Given the description of an element on the screen output the (x, y) to click on. 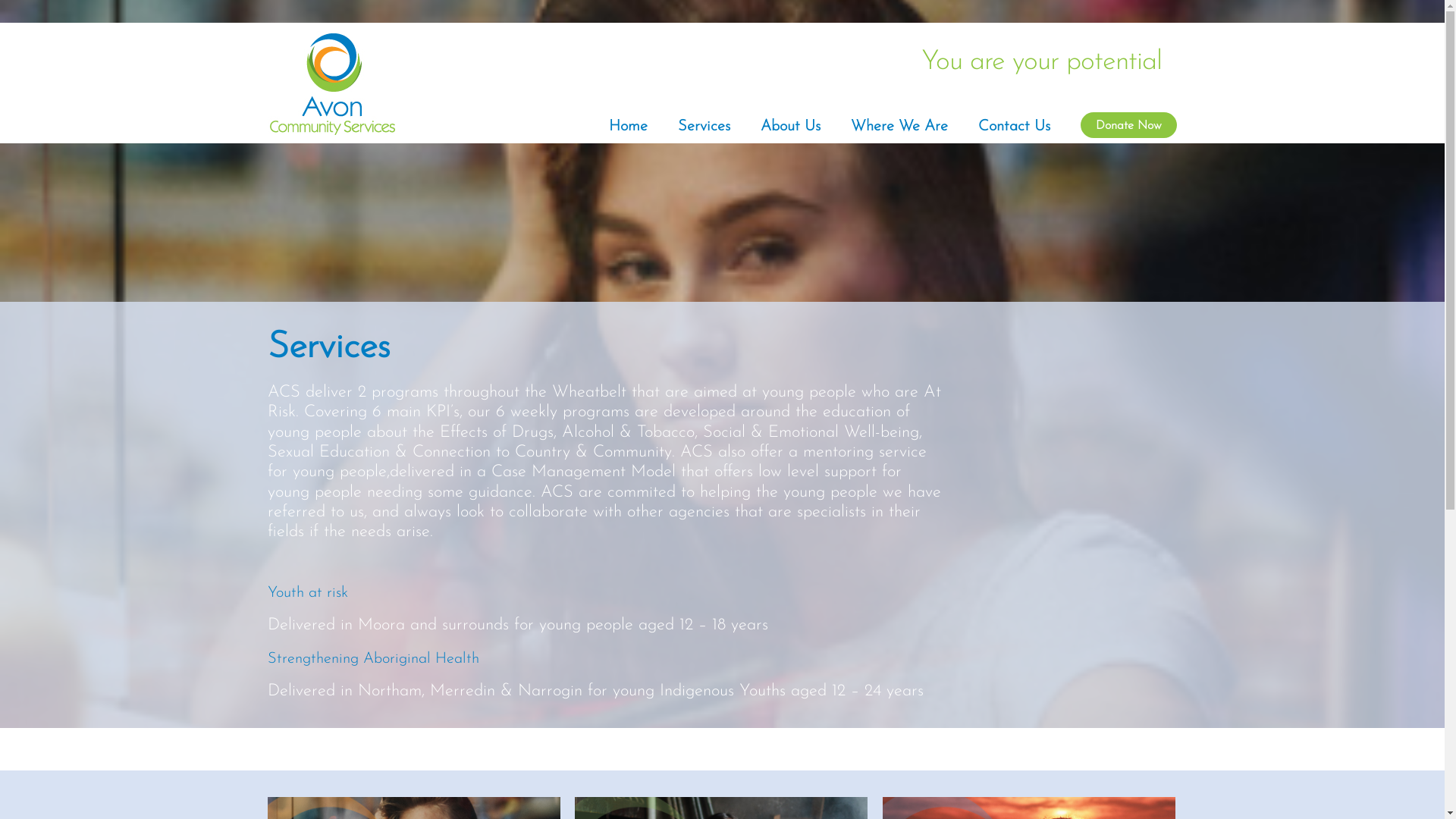
Contact Us Element type: text (1014, 126)
Donate Now Element type: text (1128, 125)
Home Element type: text (627, 126)
About Us Element type: text (790, 126)
Services Element type: text (703, 126)
Where We Are Element type: text (899, 126)
